Given the description of an element on the screen output the (x, y) to click on. 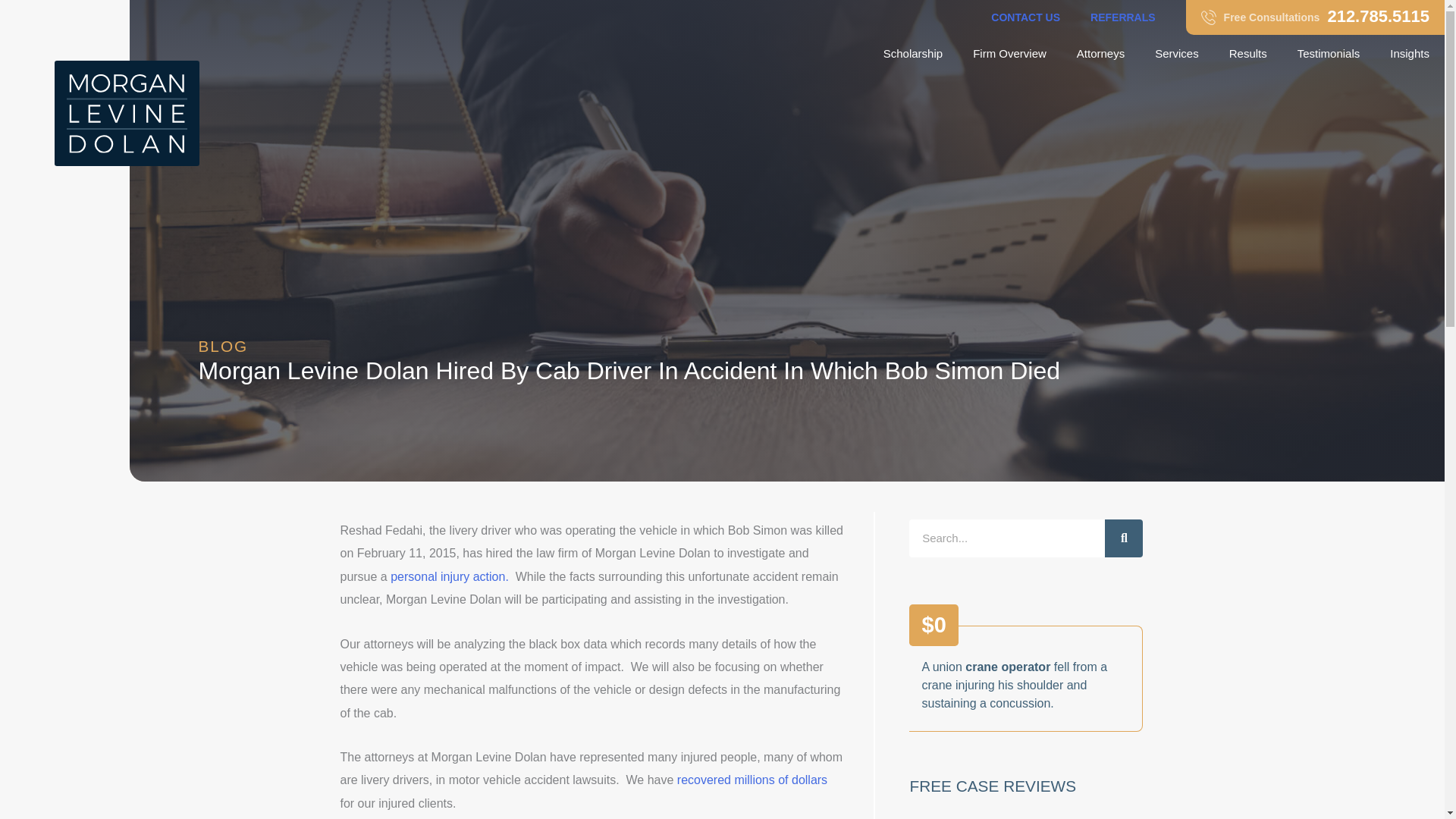
REFERRALS (1122, 17)
Scholarship (912, 53)
CONTACT US (1315, 17)
Firm Overview (1025, 17)
Services (1009, 53)
Attorneys (1177, 53)
